Given the description of an element on the screen output the (x, y) to click on. 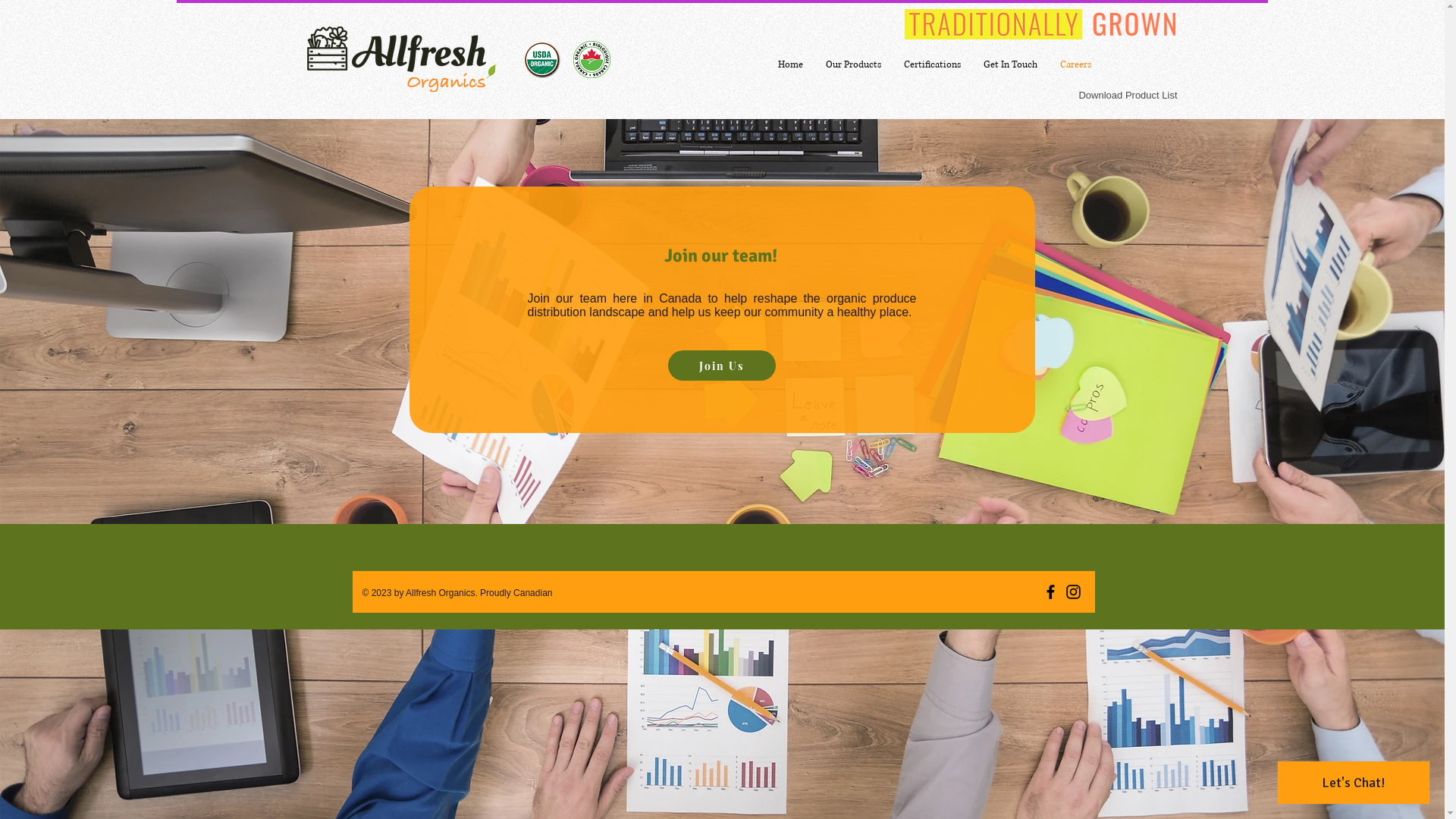
Get In Touch Element type: text (1010, 65)
Our Products Element type: text (853, 65)
Join Us Element type: text (721, 365)
Careers Element type: text (1074, 65)
Certifications Element type: text (931, 65)
Download Product List Element type: text (1127, 95)
Home Element type: text (789, 65)
